Given the description of an element on the screen output the (x, y) to click on. 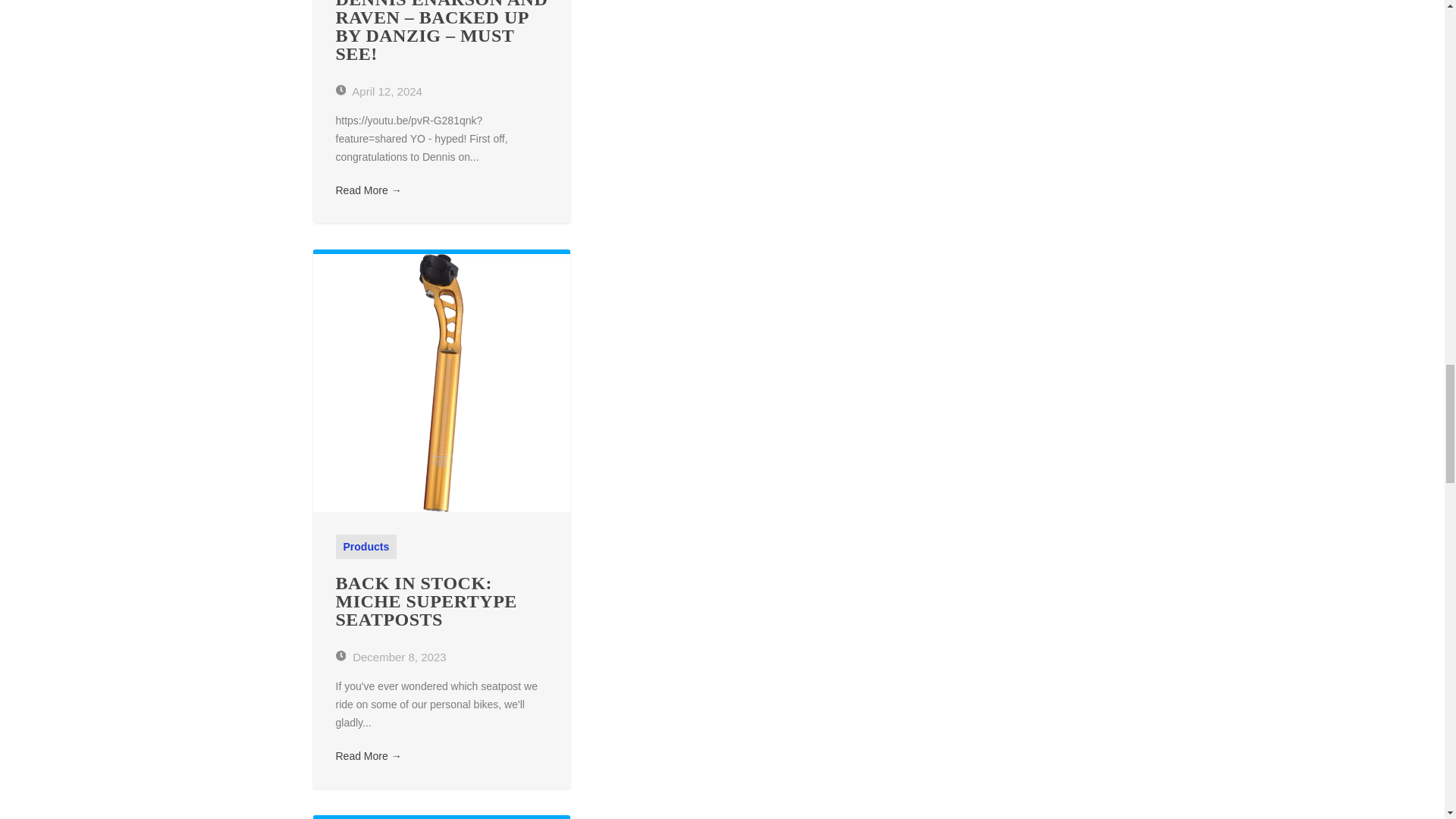
BACK IN STOCK: MICHE SUPERTYPE SEATPOSTS (425, 601)
Products (365, 546)
April 12, 2024 (378, 91)
December 8, 2023 (389, 656)
